Given the description of an element on the screen output the (x, y) to click on. 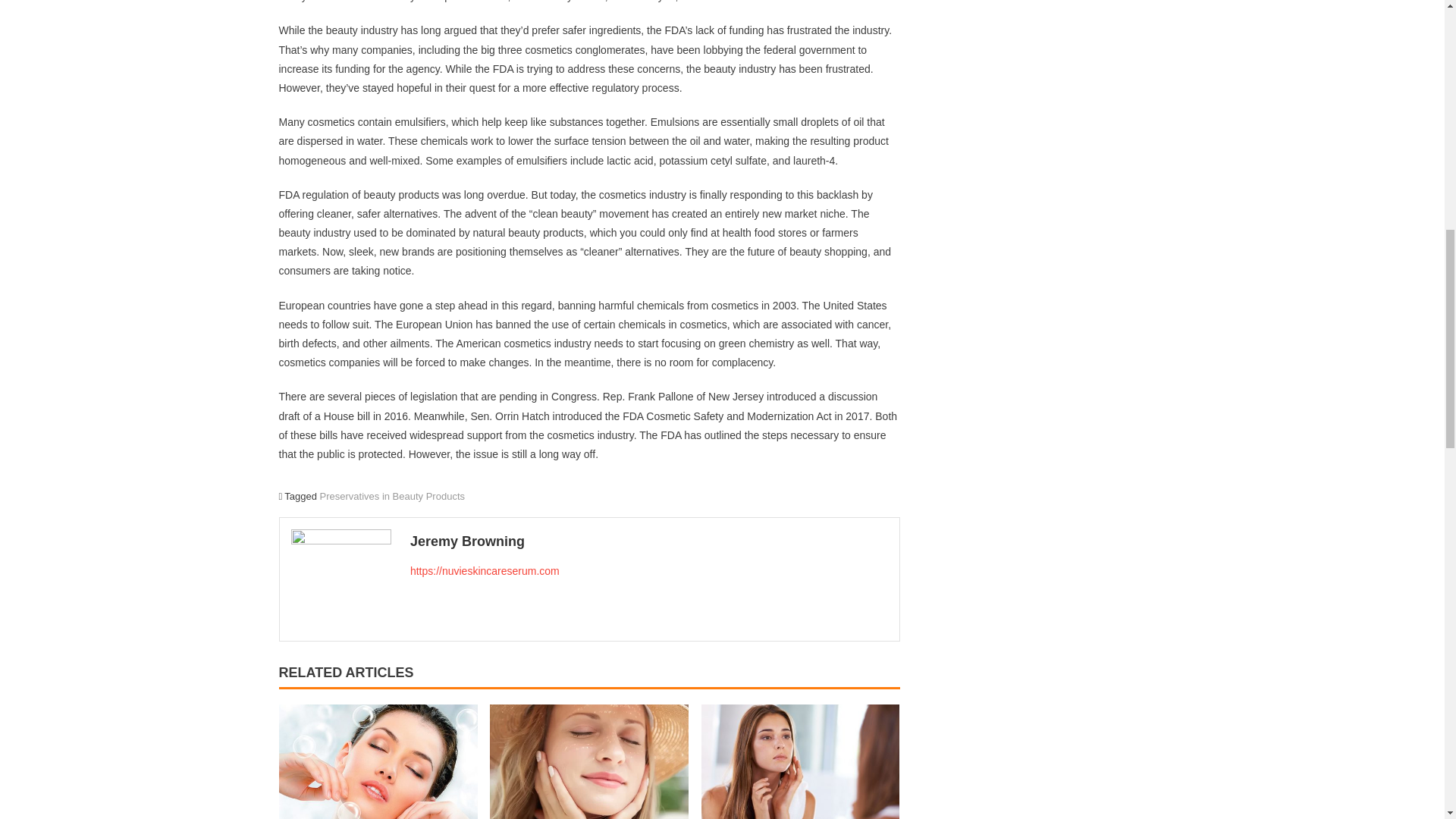
Jeremy Browning (649, 541)
The Summer Skin Care Guide: Protect and Nourish Your Skin (588, 761)
Beauty Care in the Summer (800, 761)
Preservatives in Beauty Products (392, 496)
